Given the description of an element on the screen output the (x, y) to click on. 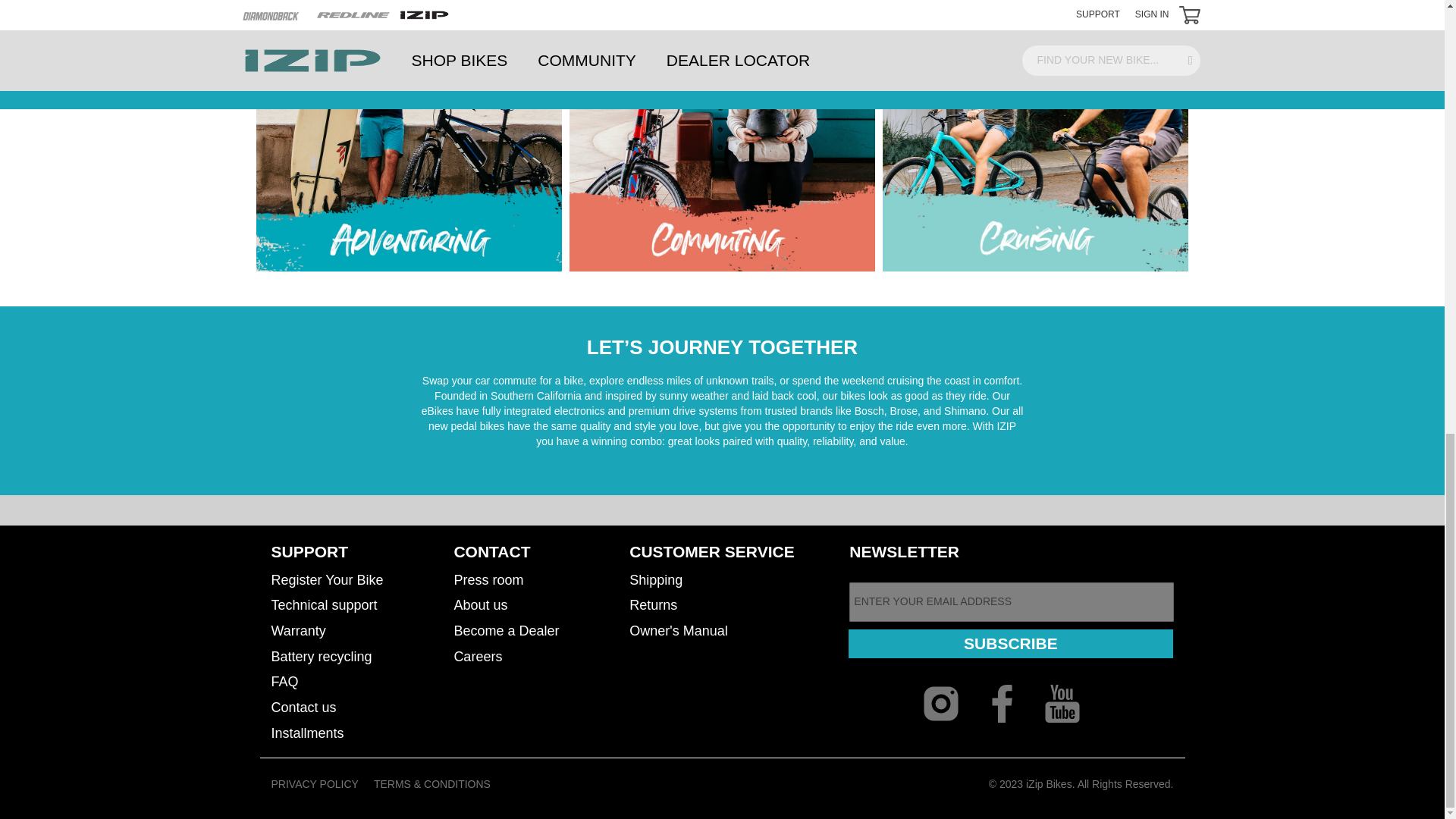
Warranty (298, 630)
CONTACT (490, 551)
Subscribe (1010, 643)
FAQ (284, 681)
Battery recycling (321, 656)
Contact us (303, 707)
Technical support (323, 604)
Register Your Bike (327, 580)
Press room (487, 580)
Become a Dealer (505, 630)
